Given the description of an element on the screen output the (x, y) to click on. 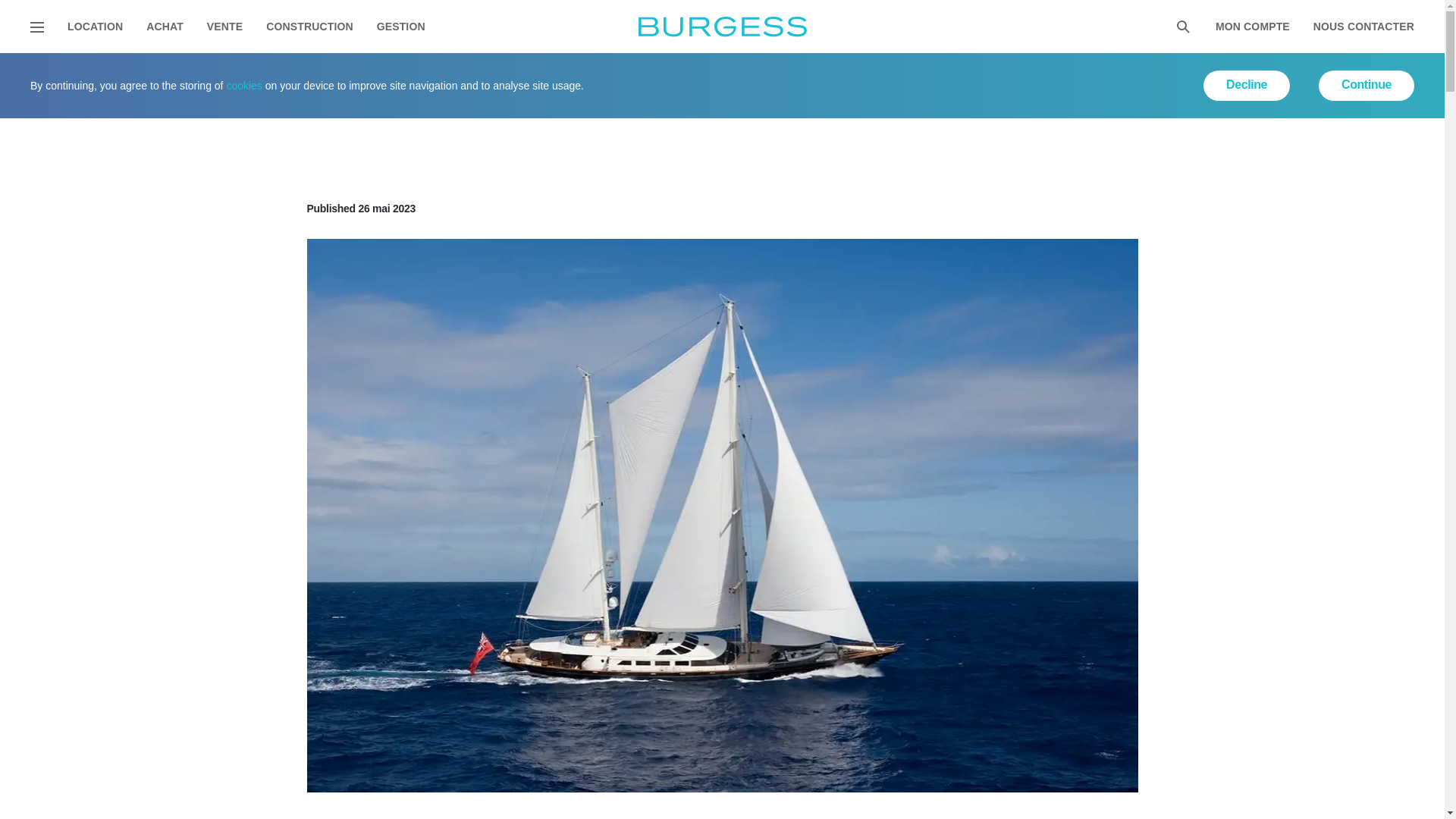
Continue (1366, 85)
ACHAT (165, 26)
GESTION (401, 26)
Decline (1247, 85)
CONSTRUCTION (309, 26)
cookies (243, 85)
Accueil (58, 72)
VENTE (224, 26)
LOCATION (94, 26)
NOUS CONTACTER (1363, 26)
